Given the description of an element on the screen output the (x, y) to click on. 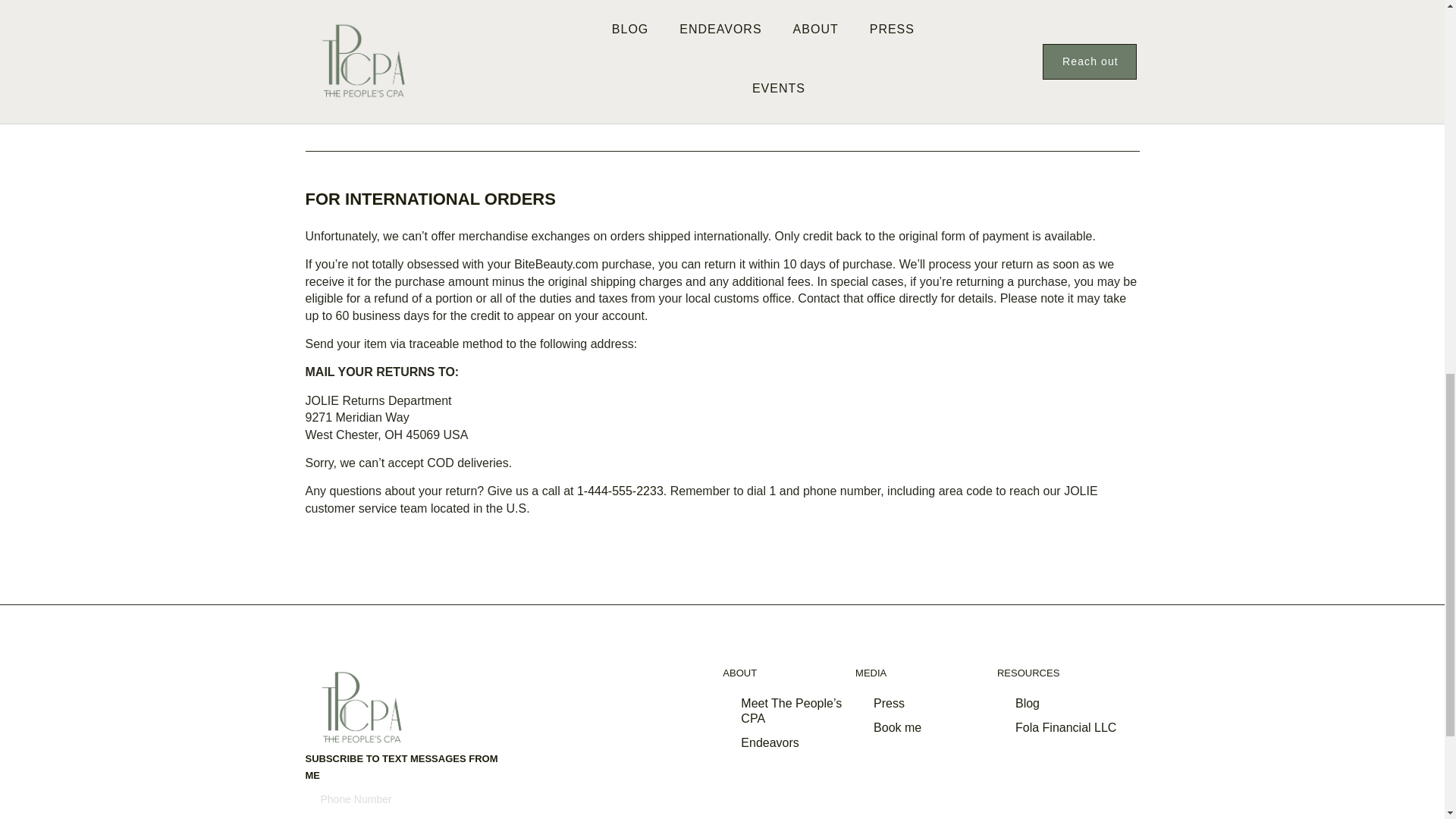
1-444-555-2233 (619, 490)
1-444-555-2233 (1014, 90)
